Given the description of an element on the screen output the (x, y) to click on. 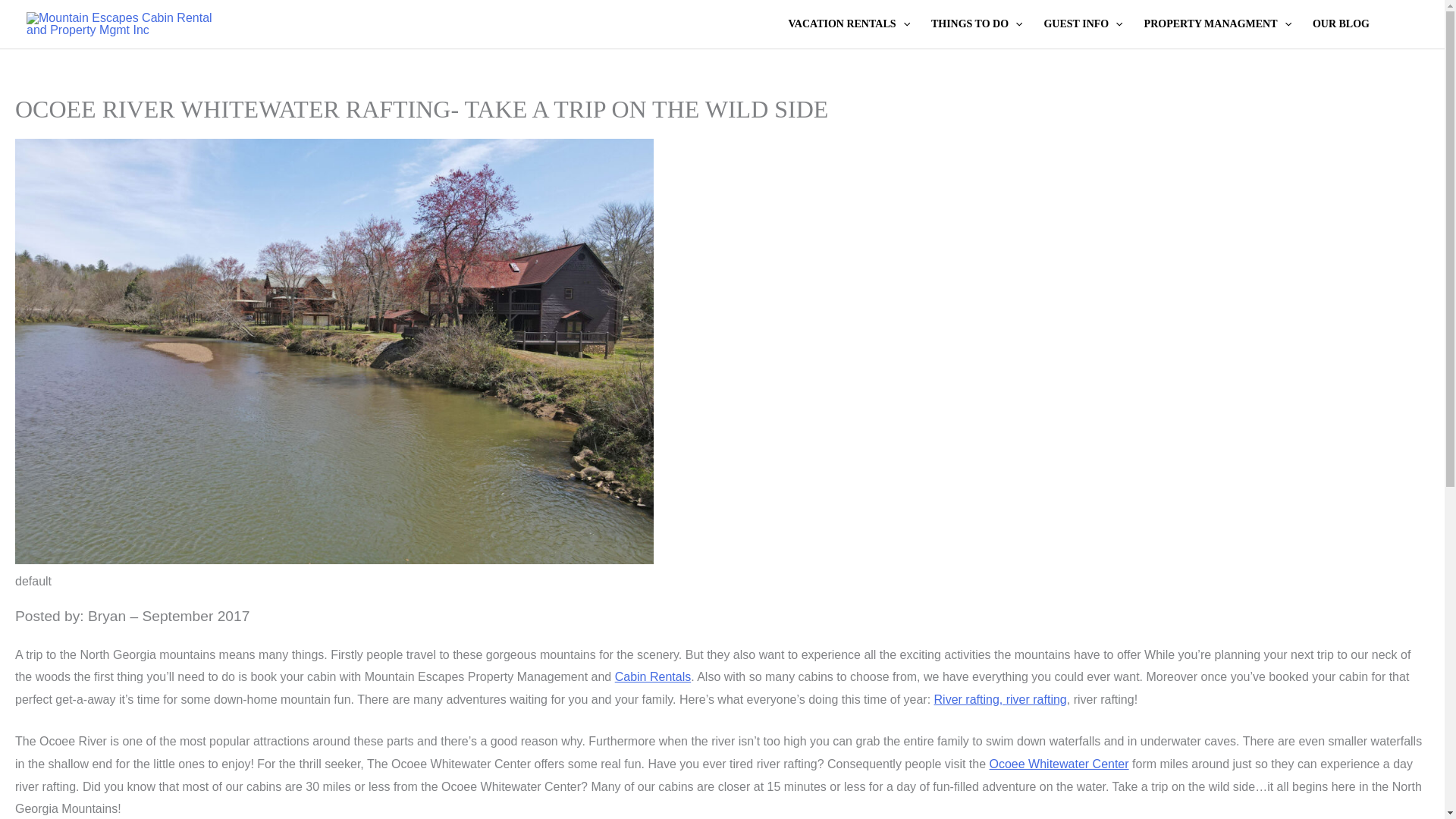
VACATION RENTALS (848, 23)
THINGS TO DO (976, 23)
PROPERTY MANAGMENT (1217, 23)
GUEST INFO (1082, 23)
OUR BLOG (1340, 23)
